Given the description of an element on the screen output the (x, y) to click on. 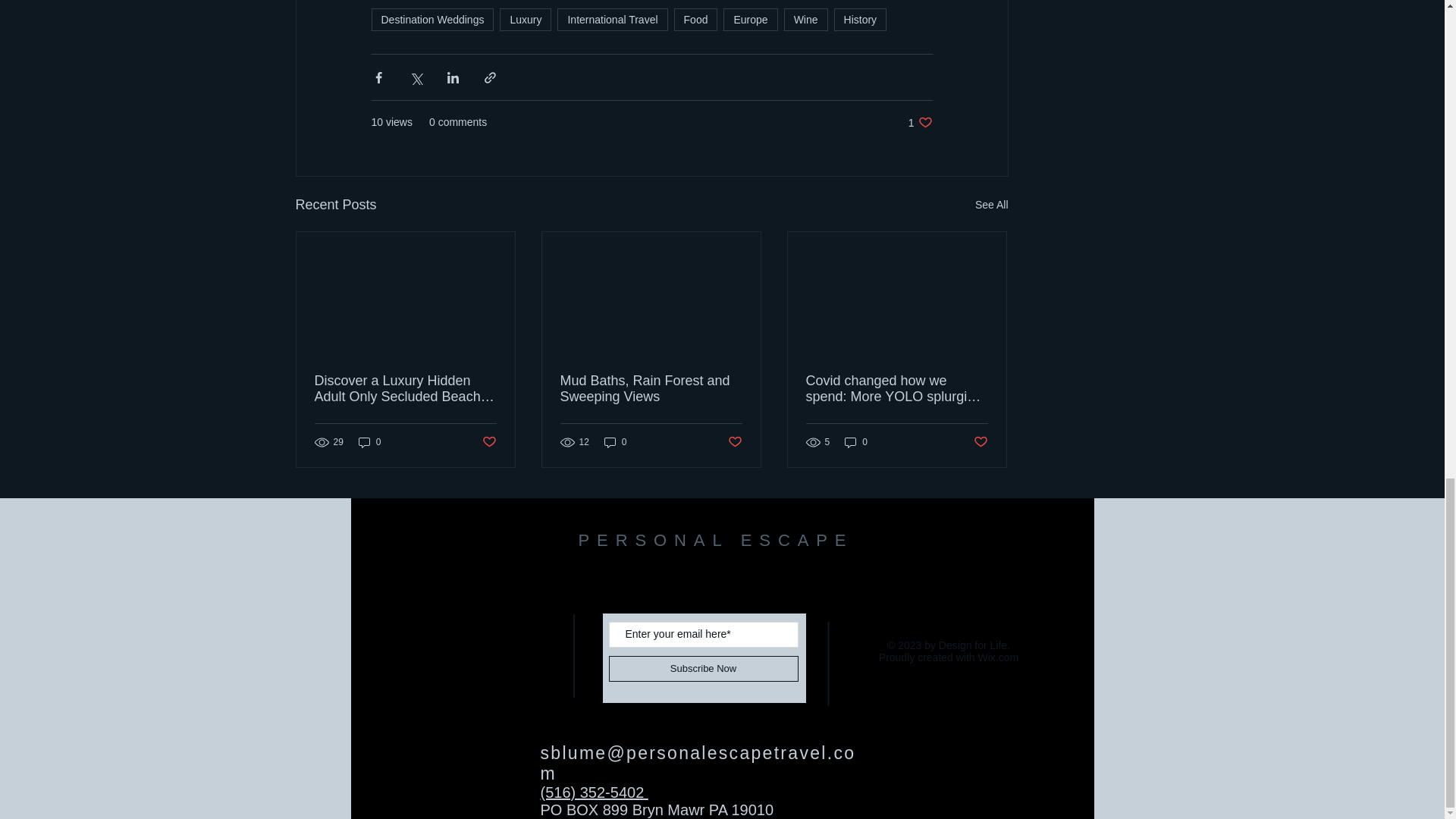
Destination Weddings (433, 19)
International Travel (611, 19)
Luxury (525, 19)
Food (695, 19)
Wine (806, 19)
Europe (750, 19)
See All (920, 122)
History (992, 205)
